Given the description of an element on the screen output the (x, y) to click on. 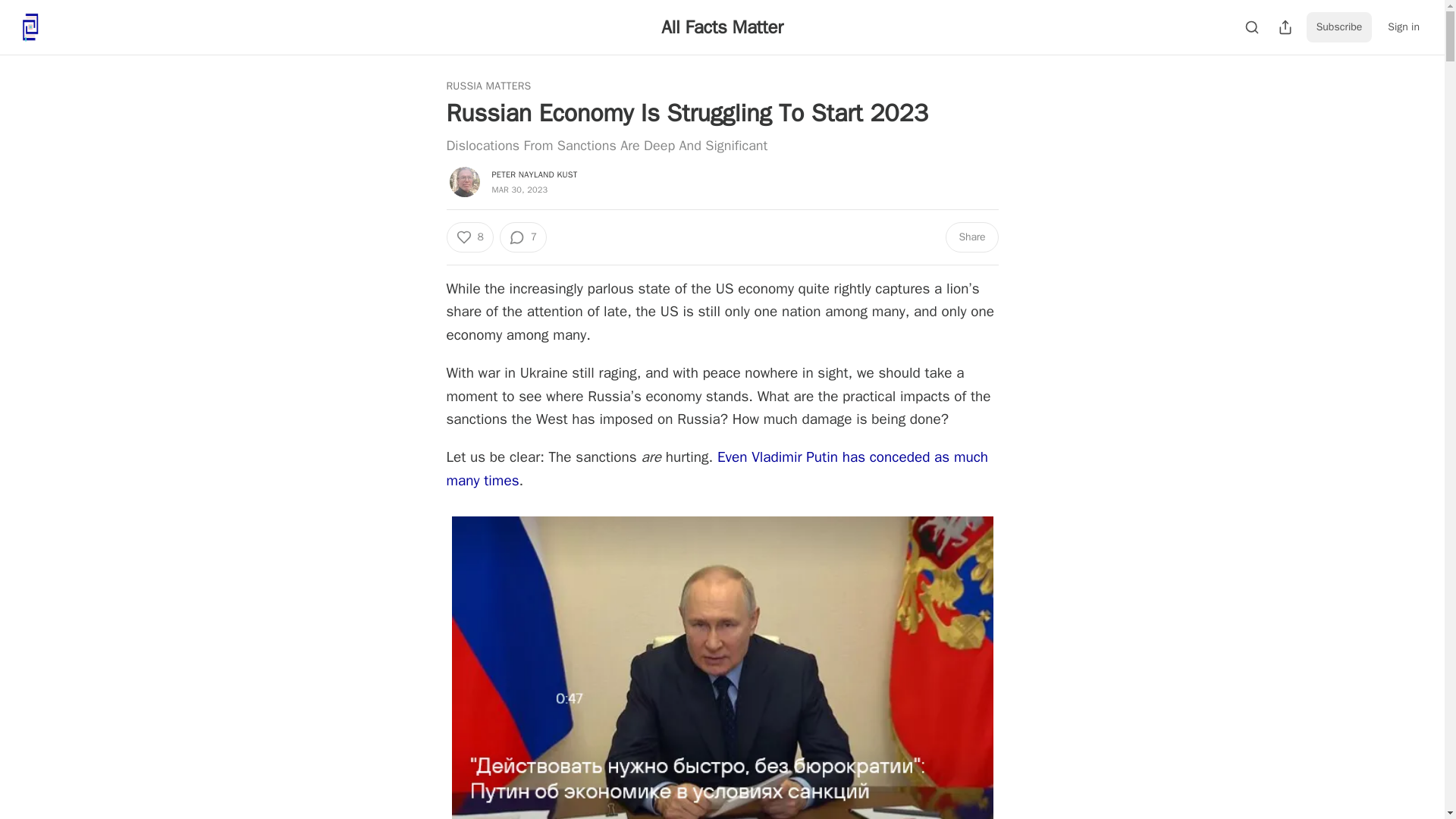
Sign in (1403, 27)
Even Vladimir Putin has conceded as much many times (716, 467)
RUSSIA MATTERS (488, 86)
PETER NAYLAND KUST (534, 173)
Subscribe (1339, 27)
All Facts Matter (722, 26)
8 (469, 236)
7 (523, 236)
Share (970, 236)
